Given the description of an element on the screen output the (x, y) to click on. 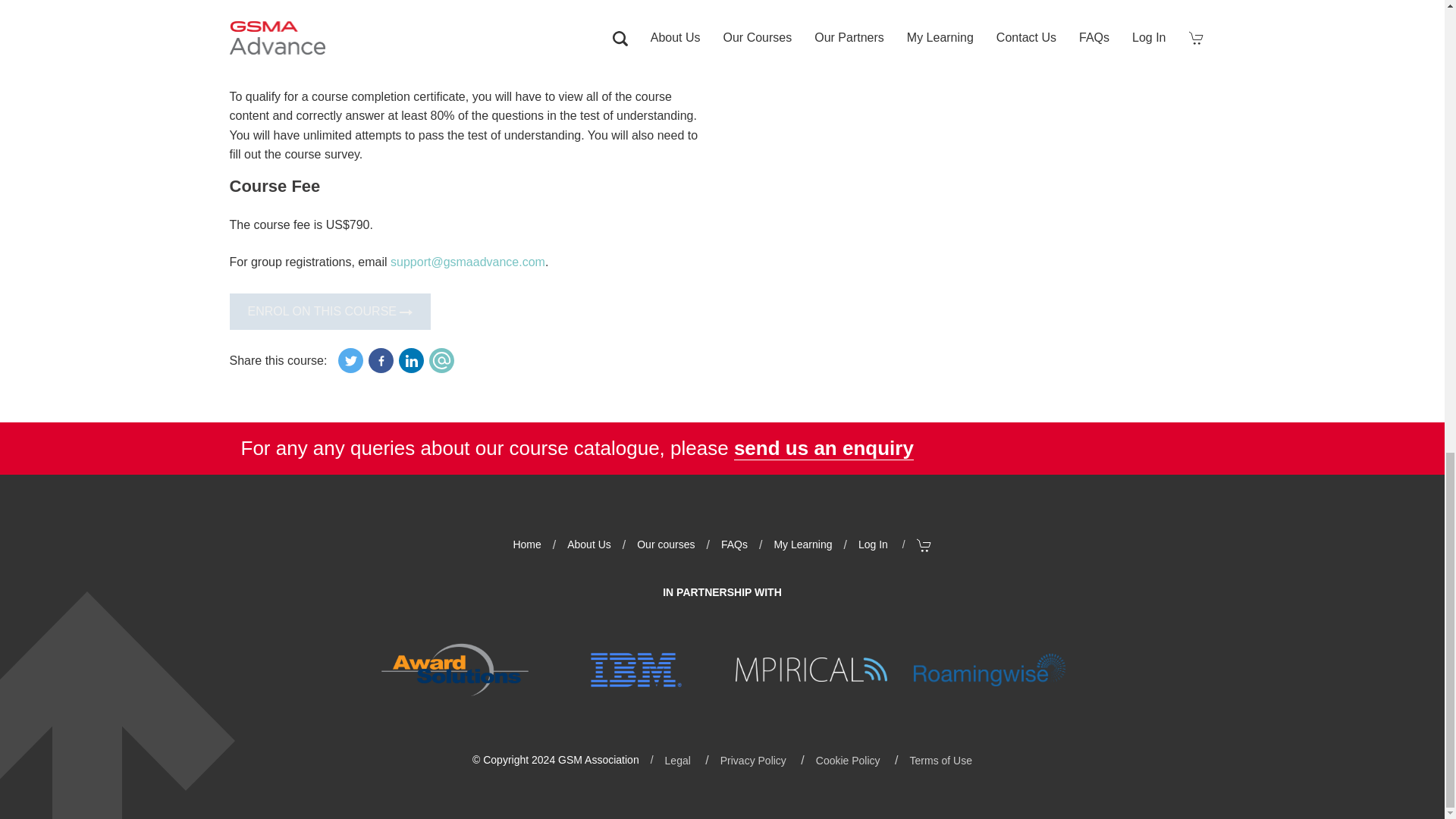
Home (526, 544)
FAQs (734, 544)
Follow us on linkedin (410, 360)
send us an enquiry (823, 448)
Follow us on linkedin (441, 360)
Our courses (665, 544)
About Us (589, 544)
Follow us on facebook (380, 360)
ENROL ON THIS COURSE (329, 311)
Follow us on twitter (349, 360)
